Given the description of an element on the screen output the (x, y) to click on. 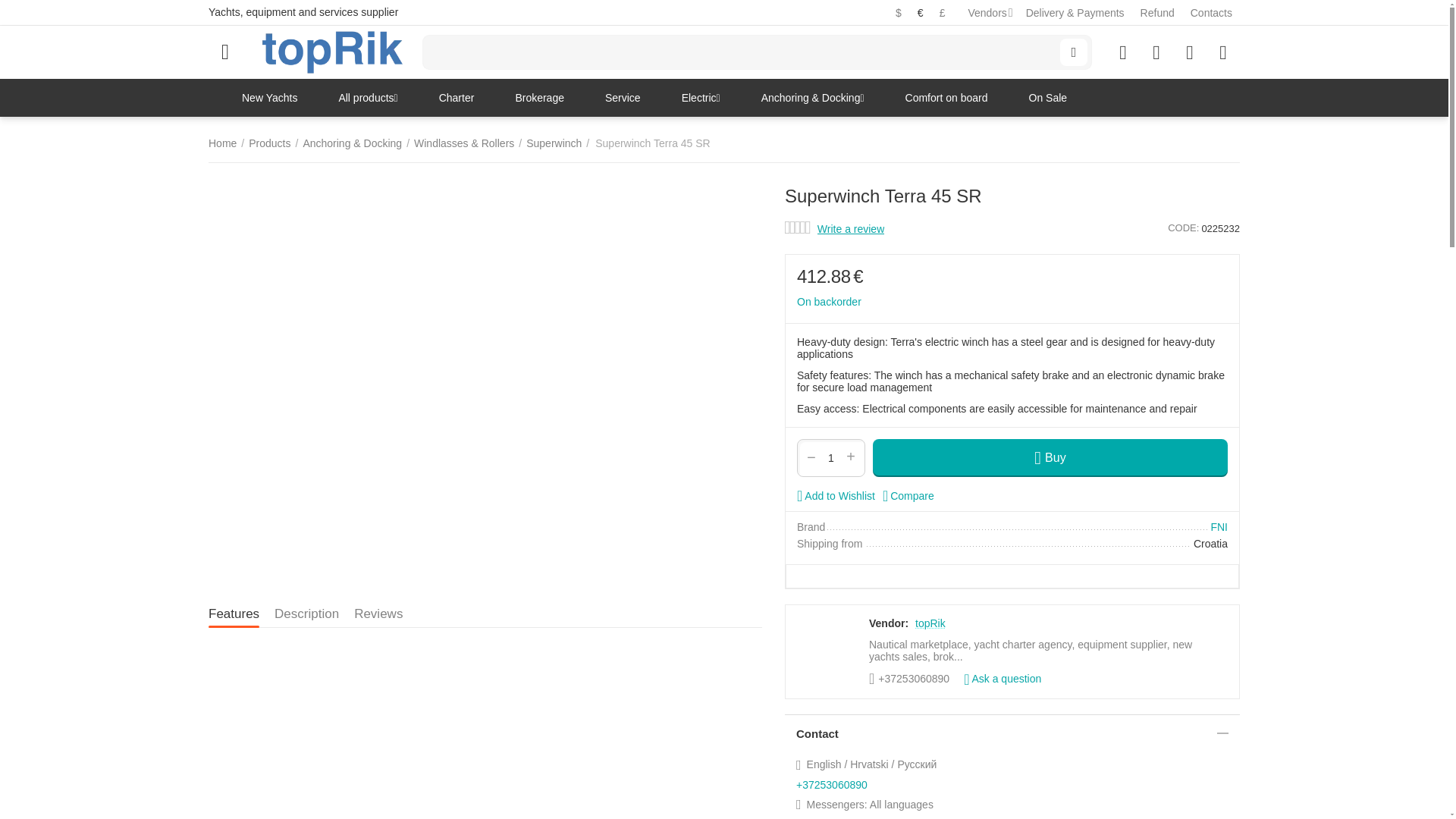
Search (1073, 52)
Contacts (1211, 12)
topRik (332, 51)
Vendors (987, 12)
Refund (1157, 12)
topRik (332, 52)
